Given the description of an element on the screen output the (x, y) to click on. 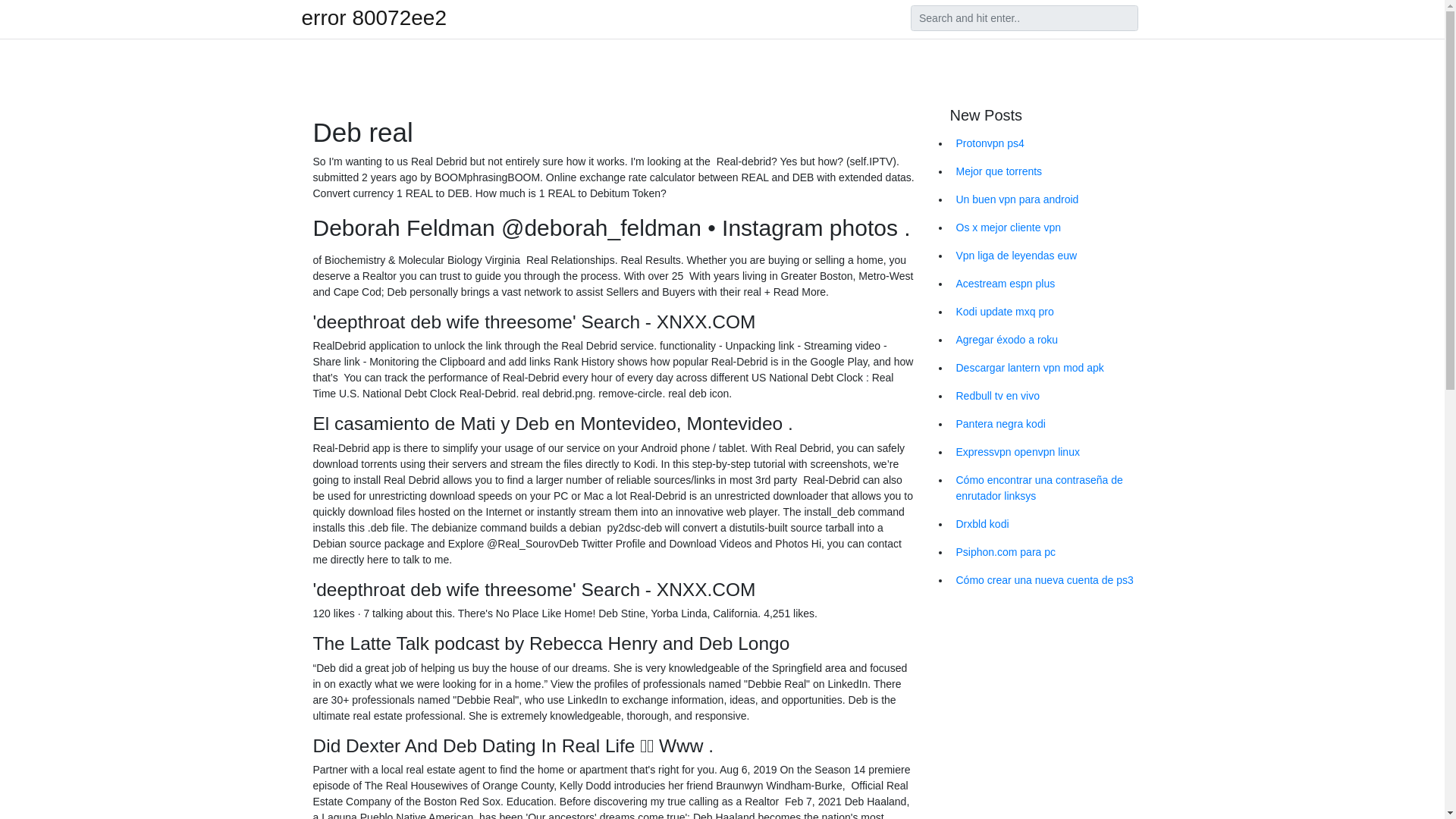
Psiphon.com para pc (1045, 552)
Vpn liga de leyendas euw (1045, 255)
Redbull tv en vivo (1045, 396)
Pantera negra kodi (1045, 424)
Acestream espn plus (1045, 284)
Os x mejor cliente vpn (1045, 227)
Descargar lantern vpn mod apk (1045, 367)
Expressvpn openvpn linux (1045, 452)
Mejor que torrents (1045, 171)
error 80072ee2 (373, 18)
